Given the description of an element on the screen output the (x, y) to click on. 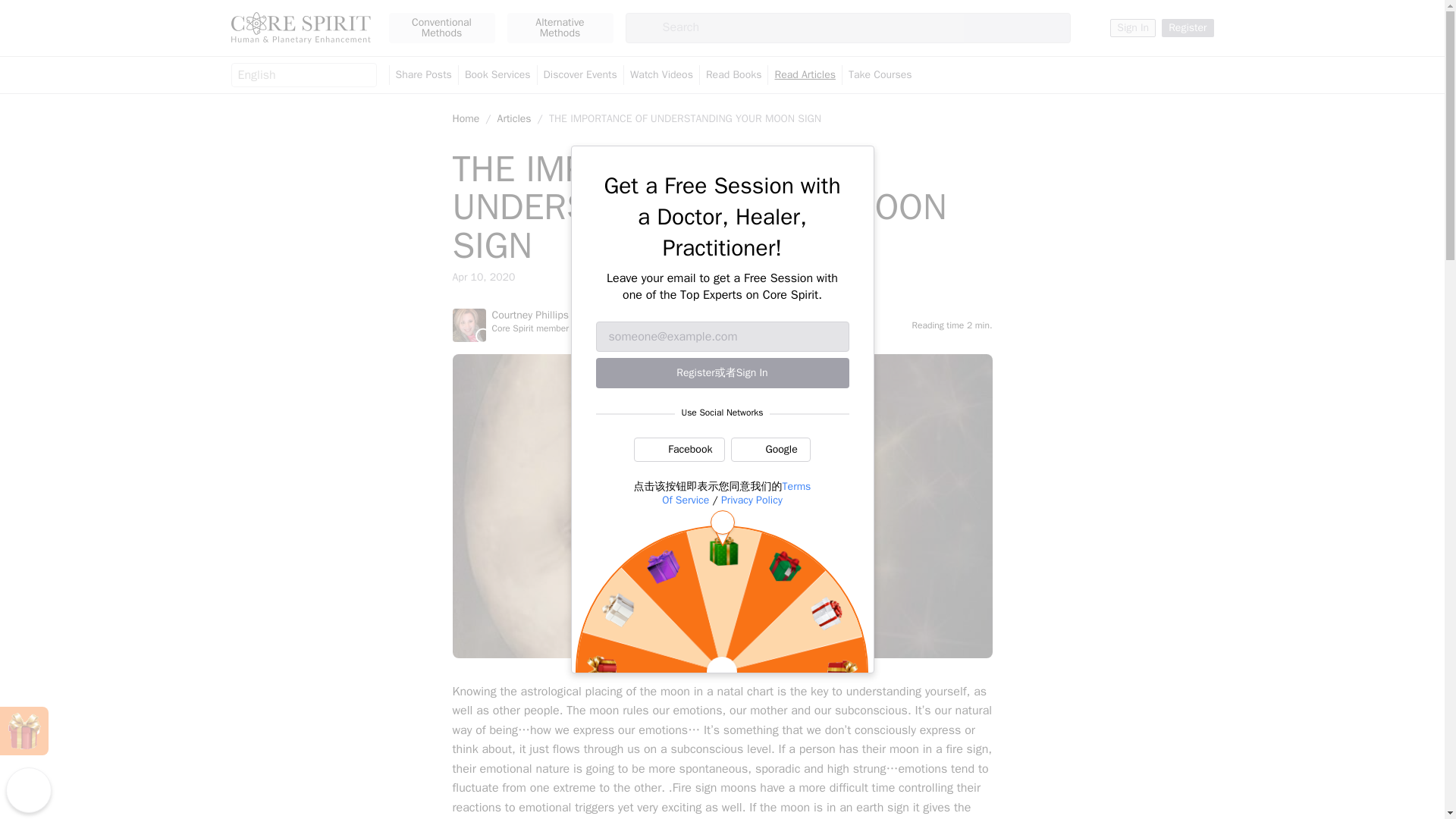
Register (1186, 27)
Alternative Methods (559, 28)
Share Posts (423, 75)
Back to top (27, 790)
Conventional Methods (441, 28)
Book Services (497, 75)
Sign In (1132, 27)
